Given the description of an element on the screen output the (x, y) to click on. 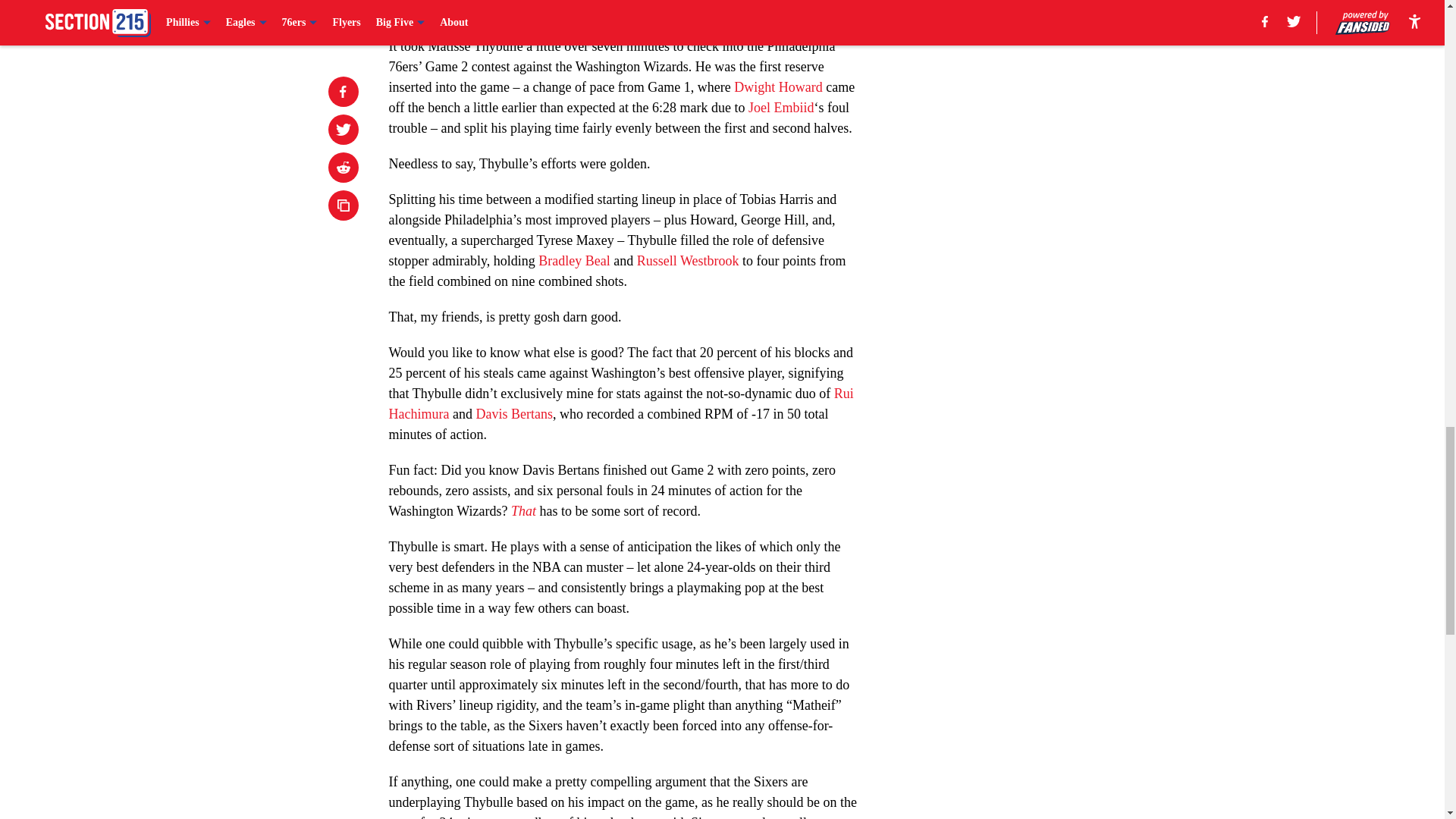
That (525, 510)
Joel Embiid (780, 107)
Davis Bertans (513, 413)
Russell Westbrook (688, 260)
Bradley Beal (574, 260)
Dwight Howard (777, 87)
Rui Hachimura (620, 403)
